Given the description of an element on the screen output the (x, y) to click on. 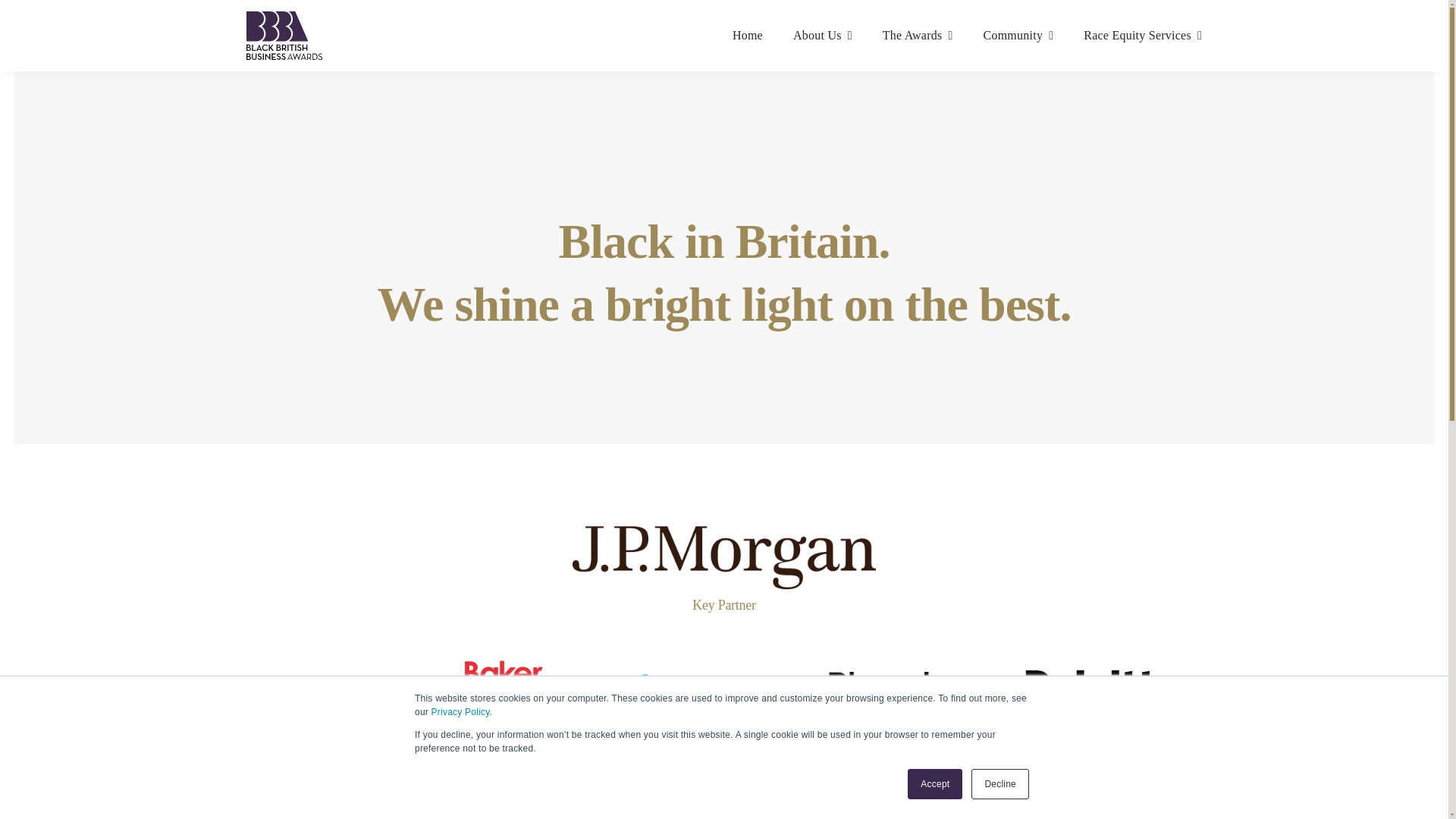
Alix Partners (340, 687)
The Awards (917, 35)
Community (1019, 35)
Privacy Policy (459, 711)
About Us (822, 35)
LOreal (913, 777)
Decline (1000, 784)
1JP-Morgan-logo1 (724, 557)
